Given the description of an element on the screen output the (x, y) to click on. 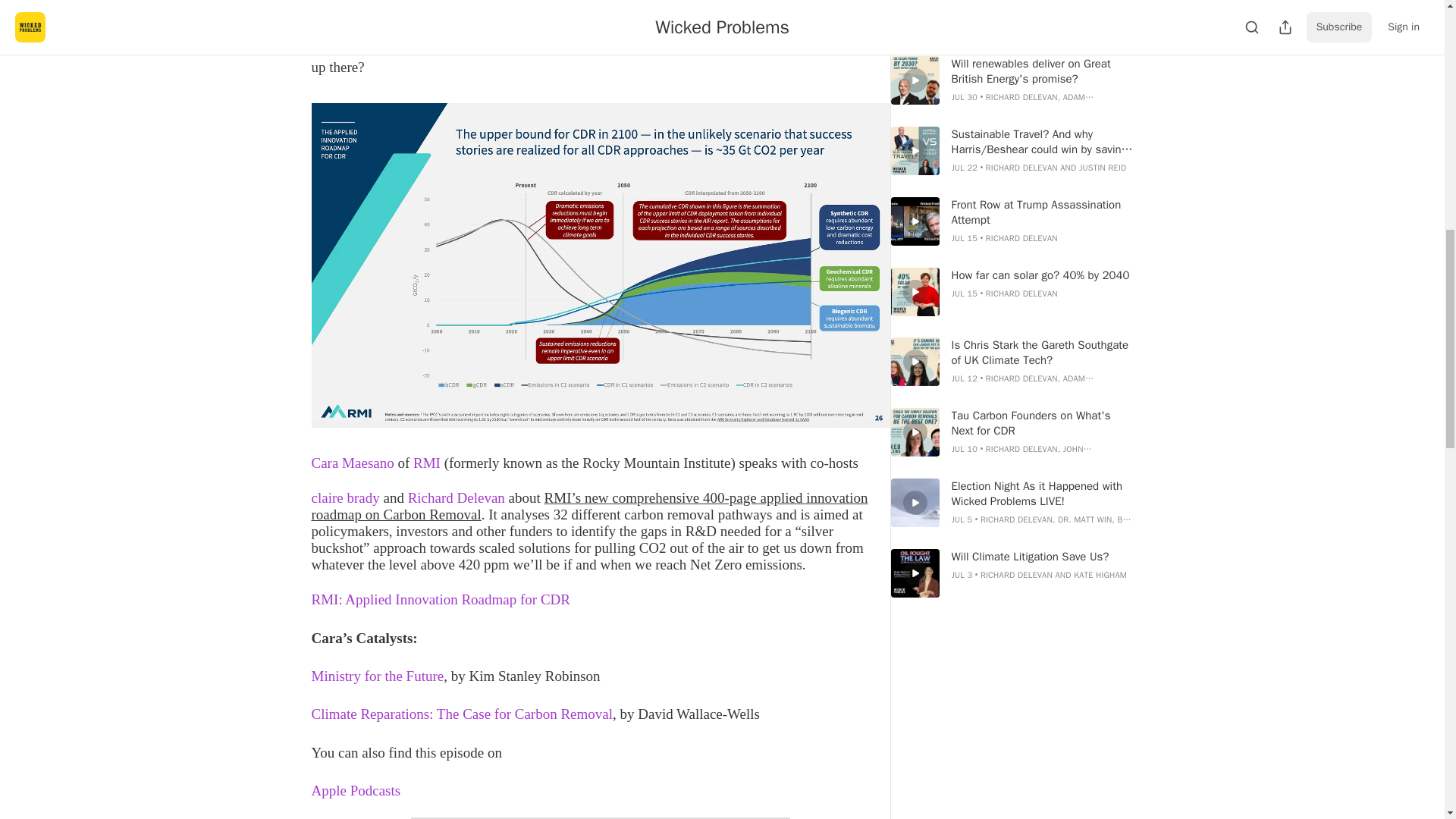
Cara Maesano (352, 462)
Richard Delevan (456, 497)
RMI (427, 462)
claire brady (344, 497)
